Given the description of an element on the screen output the (x, y) to click on. 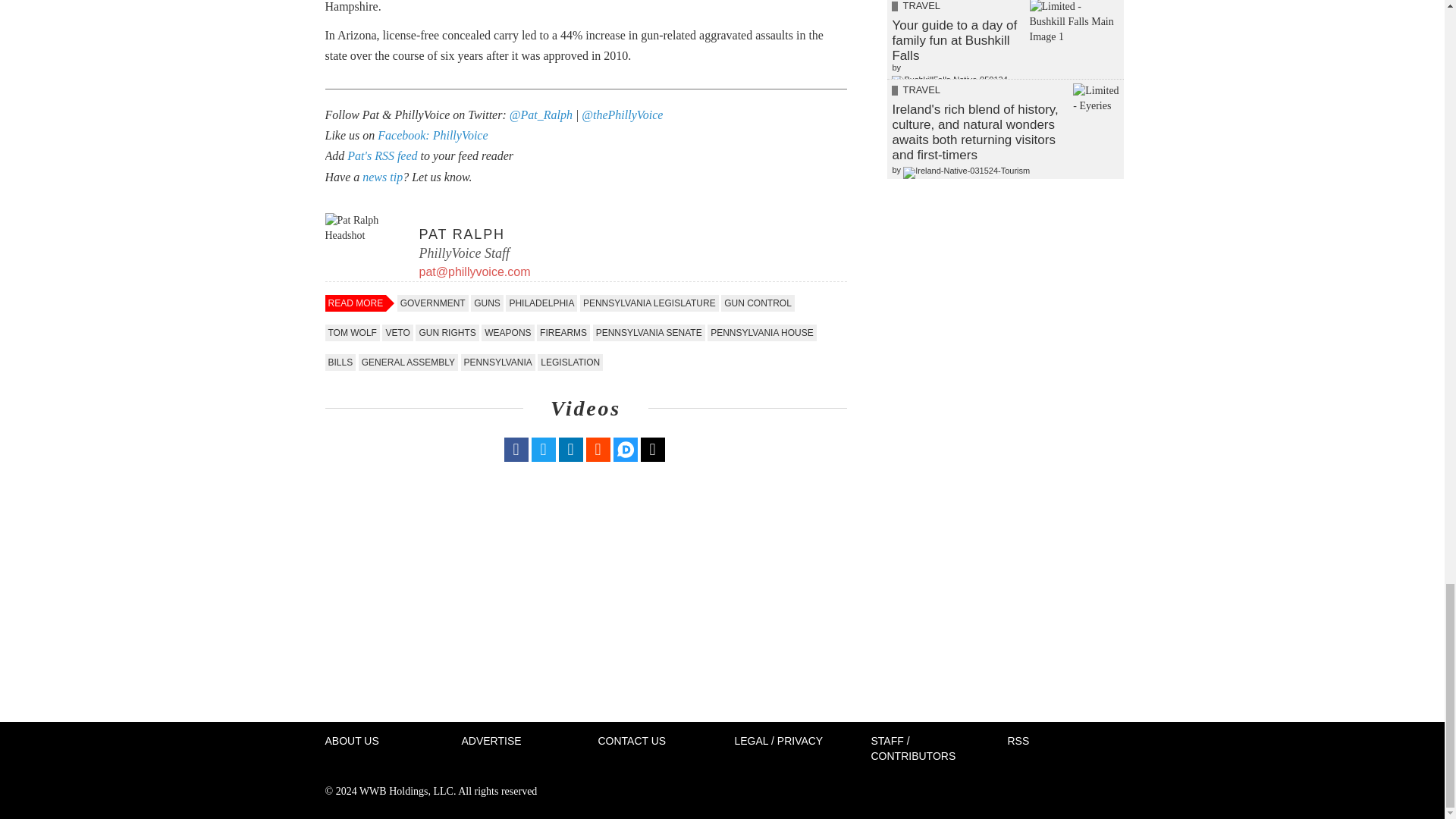
LinkedIn (569, 449)
Reddit (597, 449)
Email (651, 449)
Twitter (542, 449)
Facebook (515, 449)
